Given the description of an element on the screen output the (x, y) to click on. 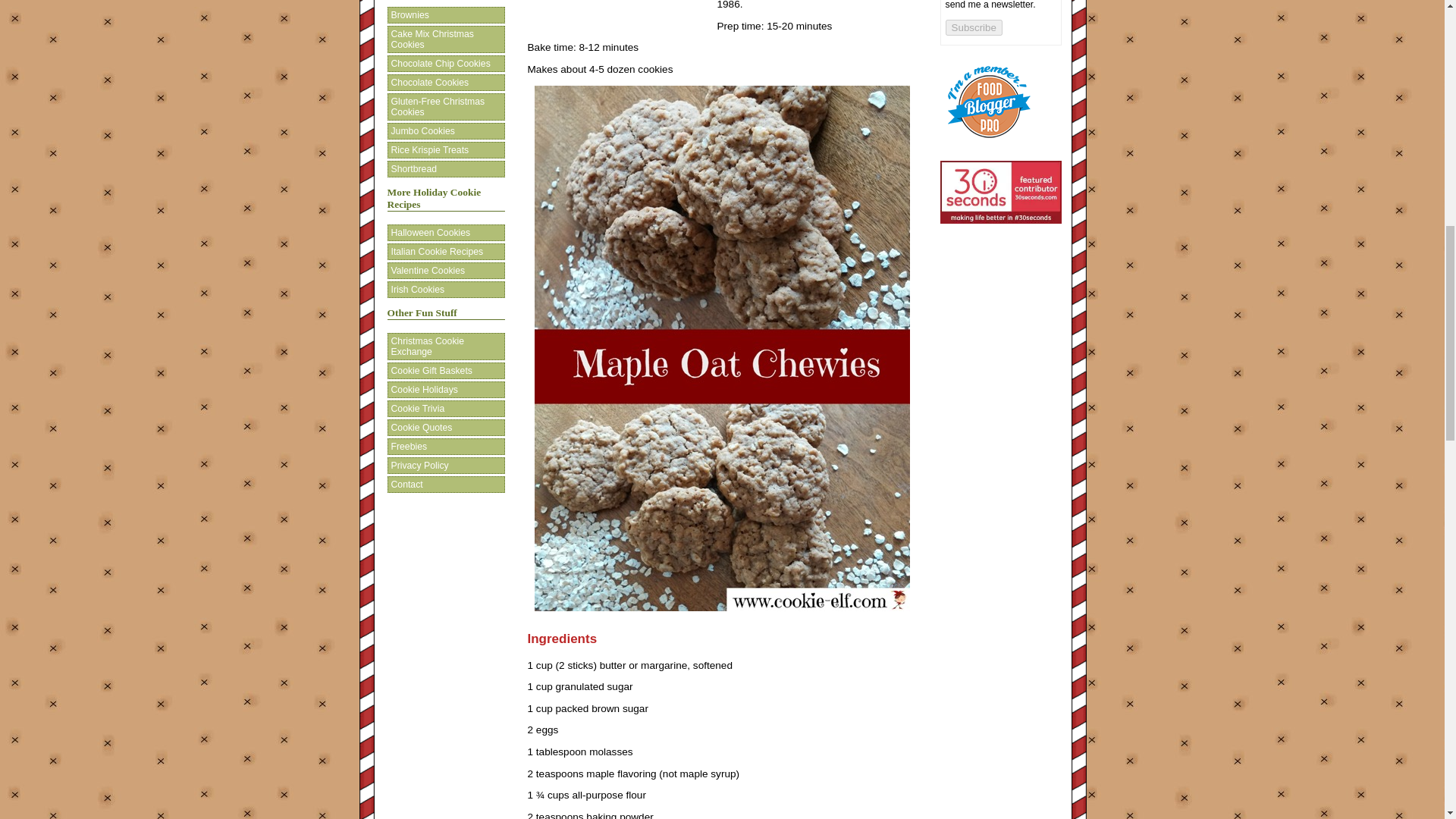
Advertisement (622, 15)
